Given the description of an element on the screen output the (x, y) to click on. 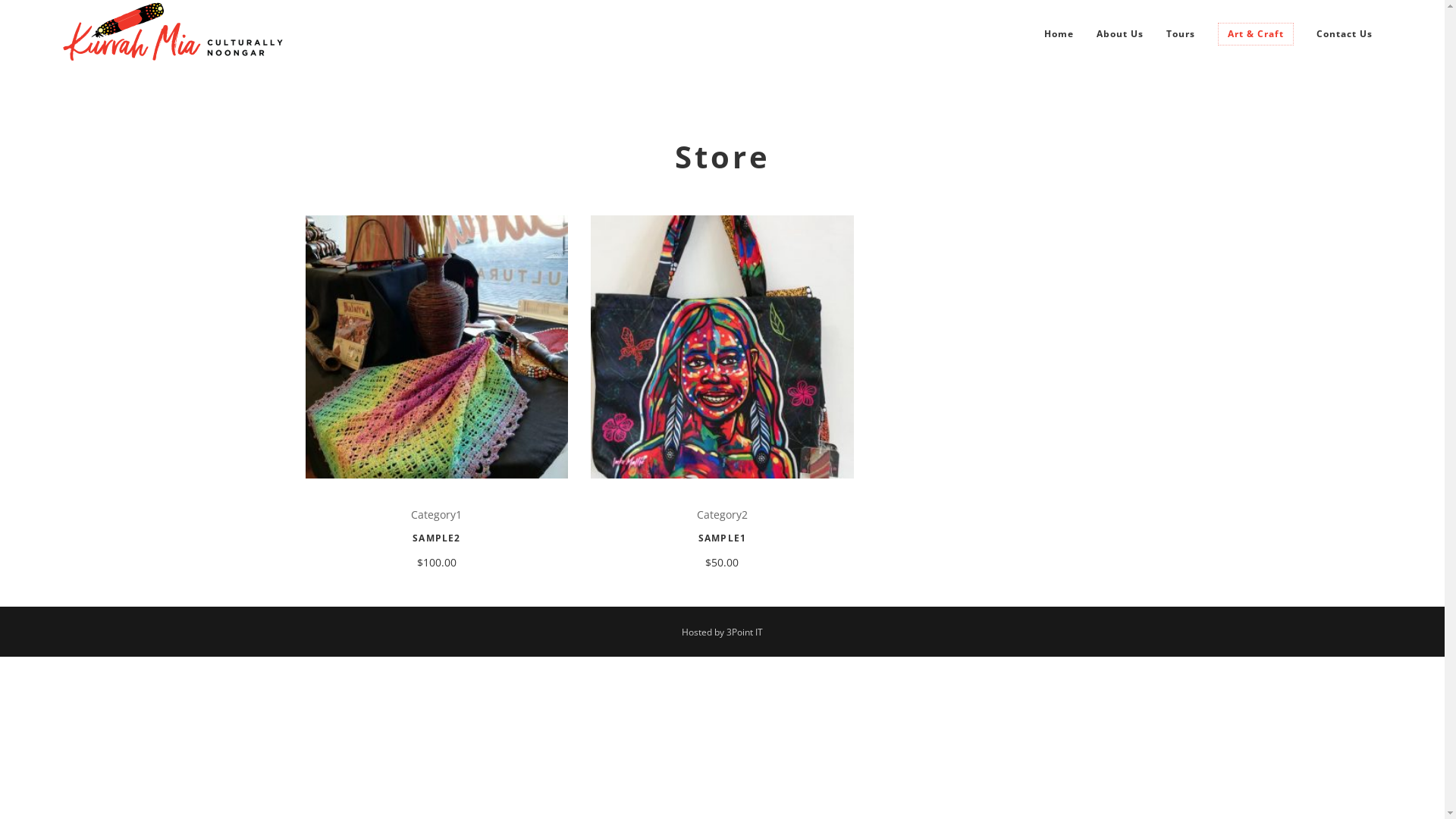
Home Element type: text (1058, 34)
Contact Us Element type: text (1344, 34)
Art & Craft Element type: text (1255, 34)
About Us Element type: text (1119, 34)
Tours Element type: text (1180, 34)
SAMPLE2 Element type: text (436, 537)
SAMPLE1 Element type: text (722, 537)
Category1 Element type: text (436, 514)
Category2 Element type: text (721, 514)
